Given the description of an element on the screen output the (x, y) to click on. 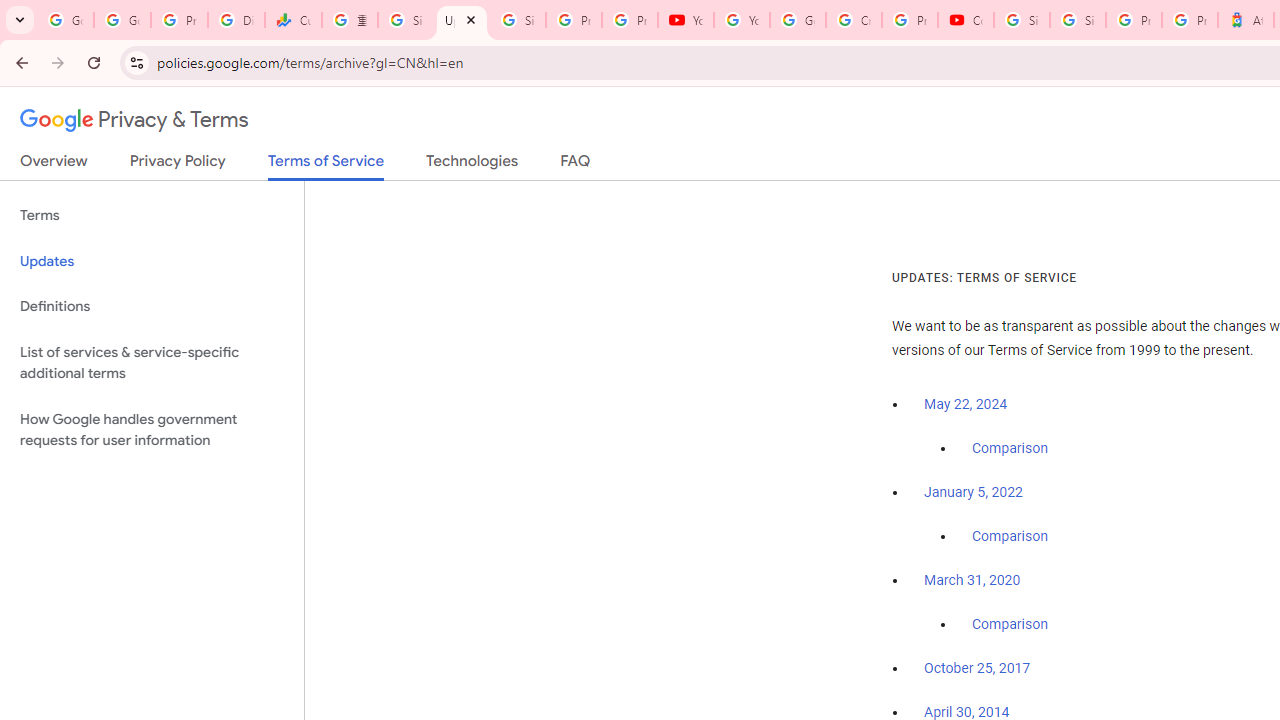
Sign in - Google Accounts (1077, 20)
March 31, 2020 (972, 580)
Currencies - Google Finance (293, 20)
YouTube (685, 20)
List of services & service-specific additional terms (152, 362)
Sign in - Google Accounts (518, 20)
How Google handles government requests for user information (152, 429)
May 22, 2024 (966, 404)
Privacy Checkup (629, 20)
